Given the description of an element on the screen output the (x, y) to click on. 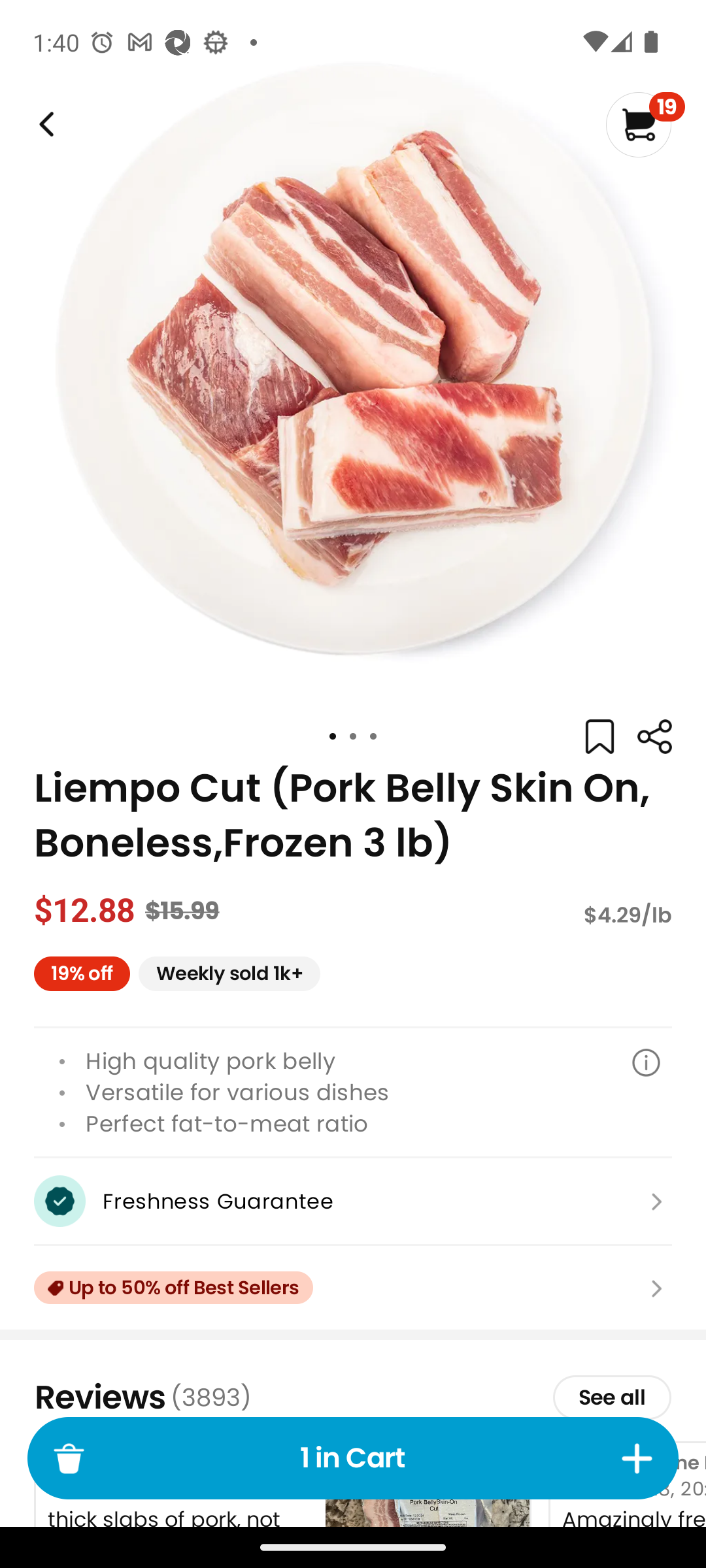
19 (644, 124)
Weee! (45, 124)
Weee! (653, 736)
Freshness Guarantee (352, 1200)
Up to 50% off Best Sellers (352, 1287)
Reviews (3893) See all (353, 1397)
1 in Cart (352, 1458)
